Given the description of an element on the screen output the (x, y) to click on. 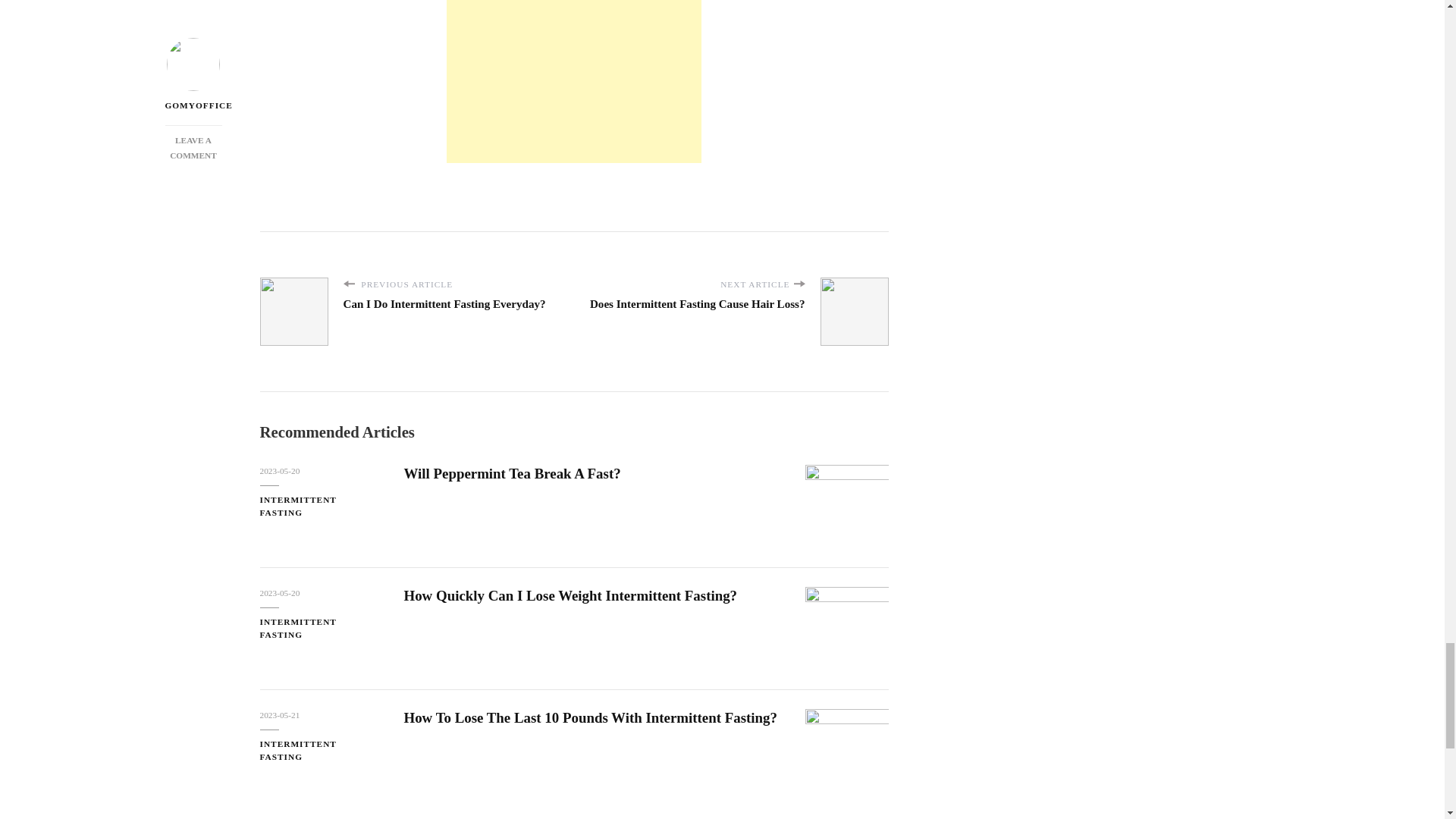
2023-05-20 (279, 593)
INTERMITTENT FASTING (319, 506)
How Quickly Can I Lose Weight Intermittent Fasting? (569, 595)
2023-05-20 (279, 471)
Will Peppermint Tea Break A Fast? (511, 473)
INTERMITTENT FASTING (319, 628)
